Given the description of an element on the screen output the (x, y) to click on. 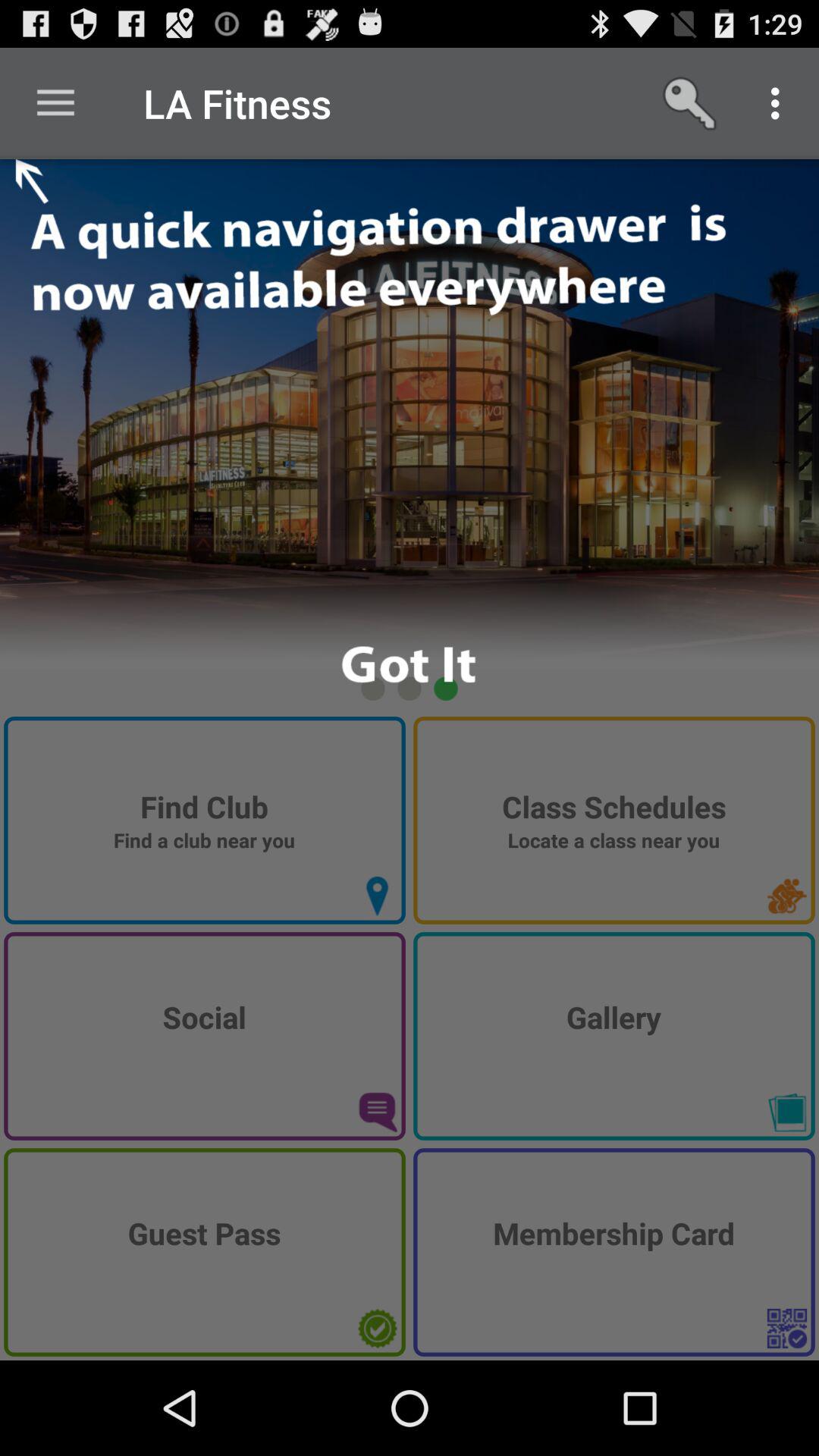
tap the item next to the la fitness item (691, 103)
